Given the description of an element on the screen output the (x, y) to click on. 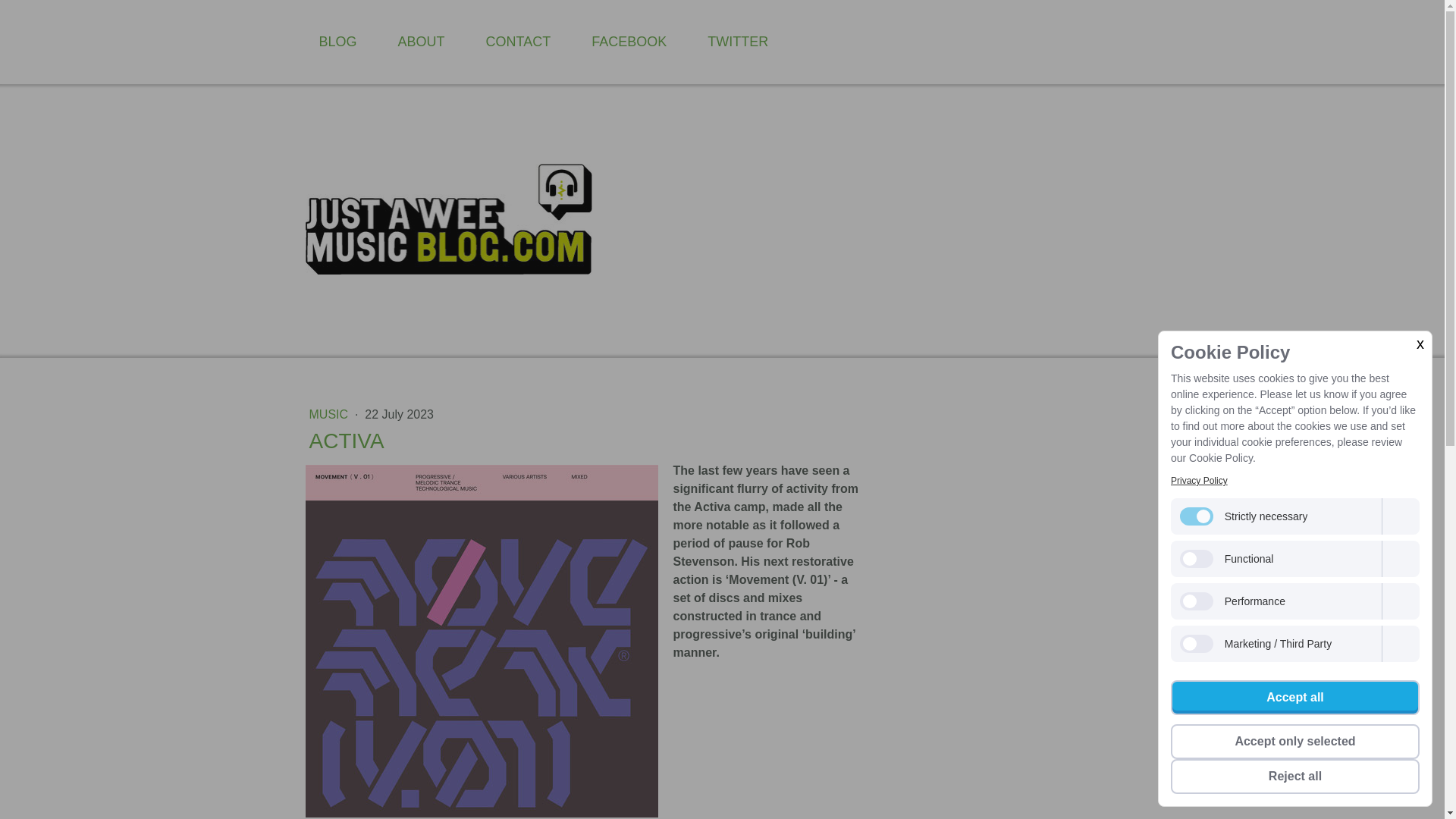
BLOG (336, 41)
CONTACT (517, 41)
ONE OF THE UK'S LONGEST-RUNNING DANCE MUSIC BLOGS (890, 220)
FACEBOOK (628, 41)
TWITTER (737, 41)
ABOUT (421, 41)
MUSIC (330, 413)
